Given the description of an element on the screen output the (x, y) to click on. 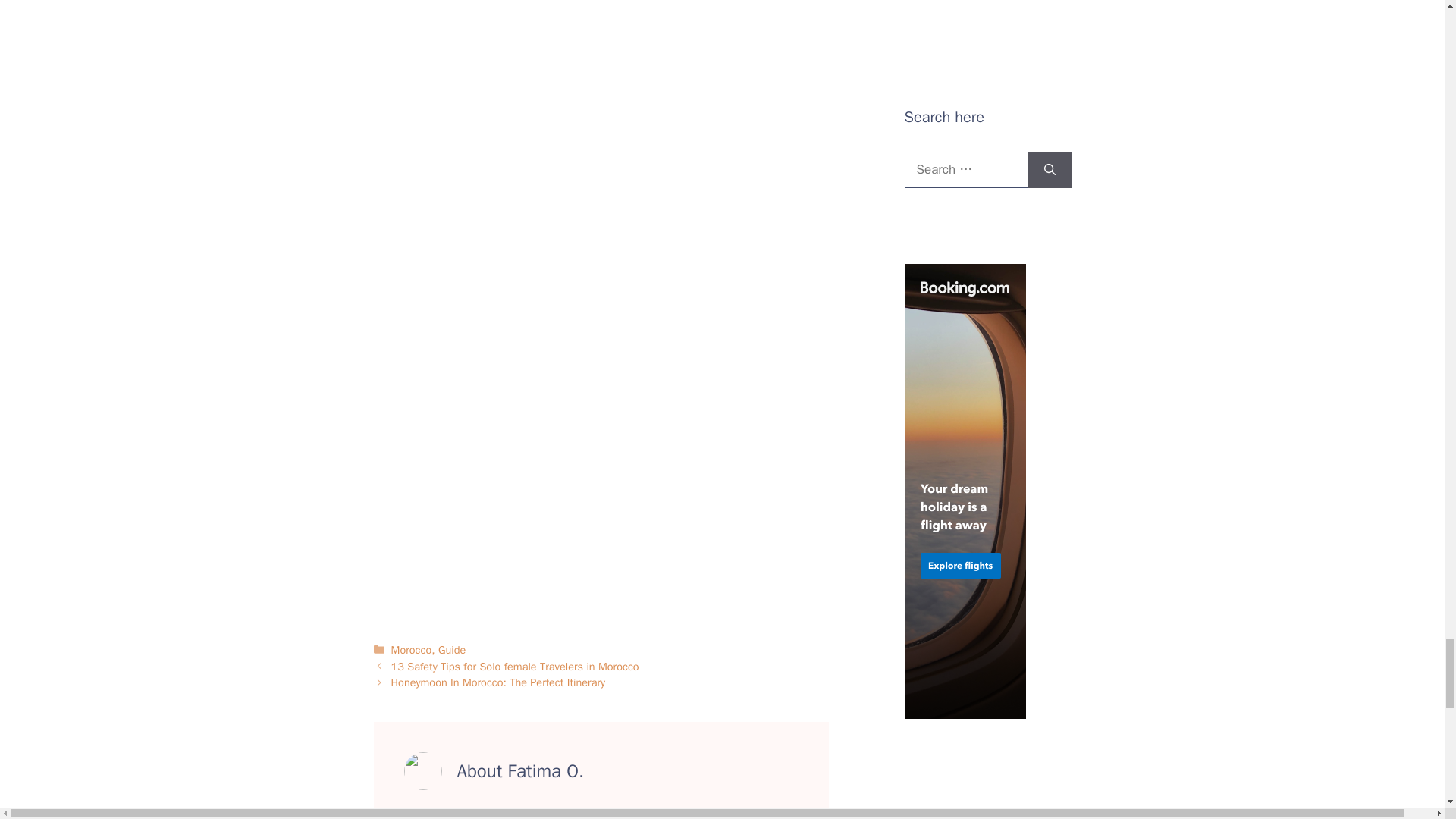
Morocco (411, 649)
Honeymoon In Morocco: The Perfect Itinerary (498, 682)
Guide (451, 649)
13 Safety Tips for Solo female Travelers in Morocco (515, 666)
